Given the description of an element on the screen output the (x, y) to click on. 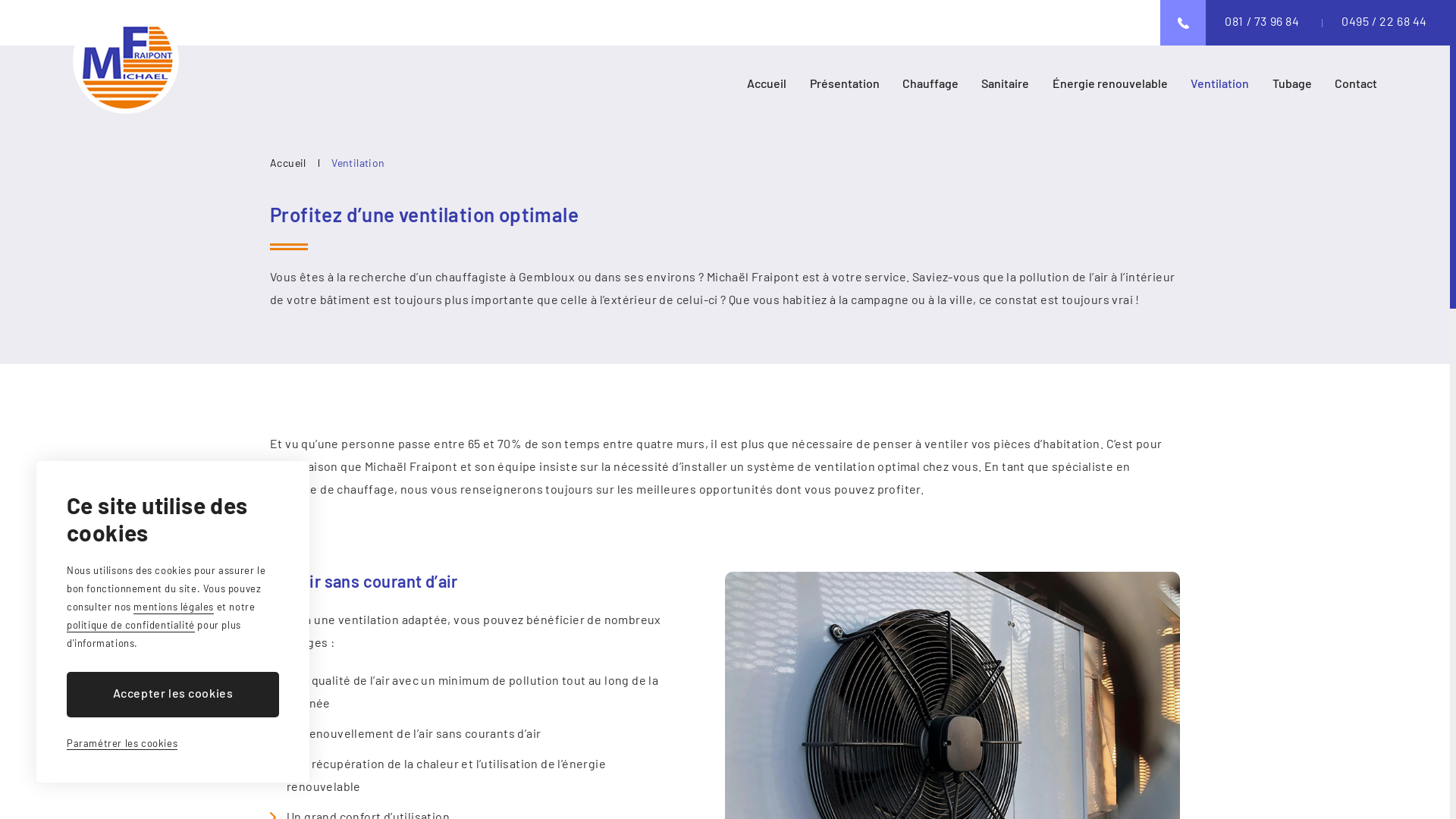
Ventilation Element type: text (1219, 83)
Tubage Element type: text (1291, 83)
Chauffage Element type: text (930, 83)
Contact Element type: text (1355, 83)
081 / 73 96 84 Element type: text (1263, 22)
Accueil Element type: text (766, 83)
Chauffage Fraipont Element type: hover (125, 60)
Accueil Element type: text (287, 162)
Ventilation Element type: text (357, 162)
Sanitaire Element type: text (1005, 83)
0495 / 22 68 44 Element type: text (1385, 22)
